Given the description of an element on the screen output the (x, y) to click on. 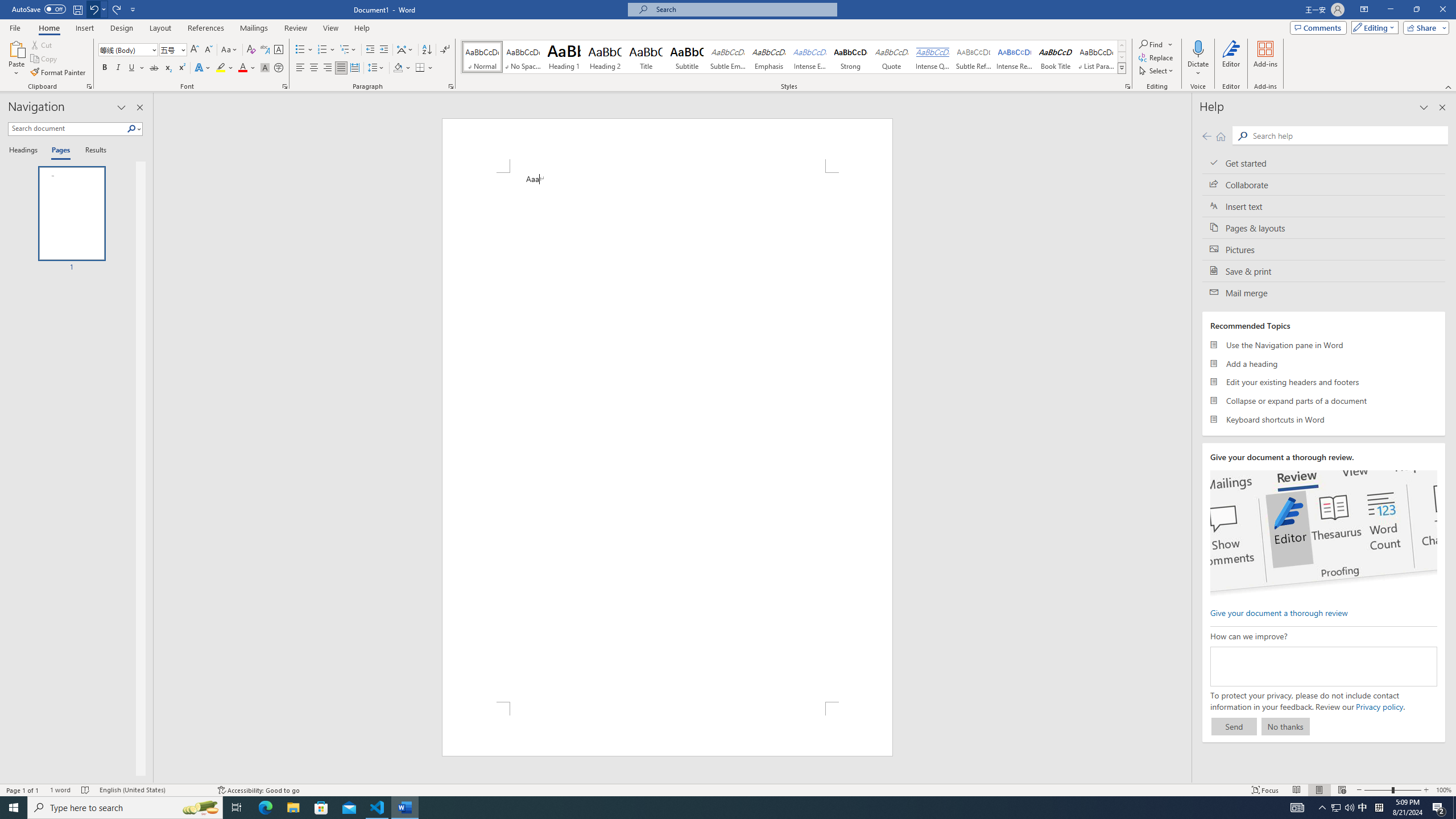
Shrink Font (208, 49)
Search (1347, 135)
Ribbon Display Options (1364, 9)
Numbering (326, 49)
Align Right (327, 67)
Heading 2 (605, 56)
Character Border (278, 49)
More Options (1197, 68)
Open (182, 49)
